Given the description of an element on the screen output the (x, y) to click on. 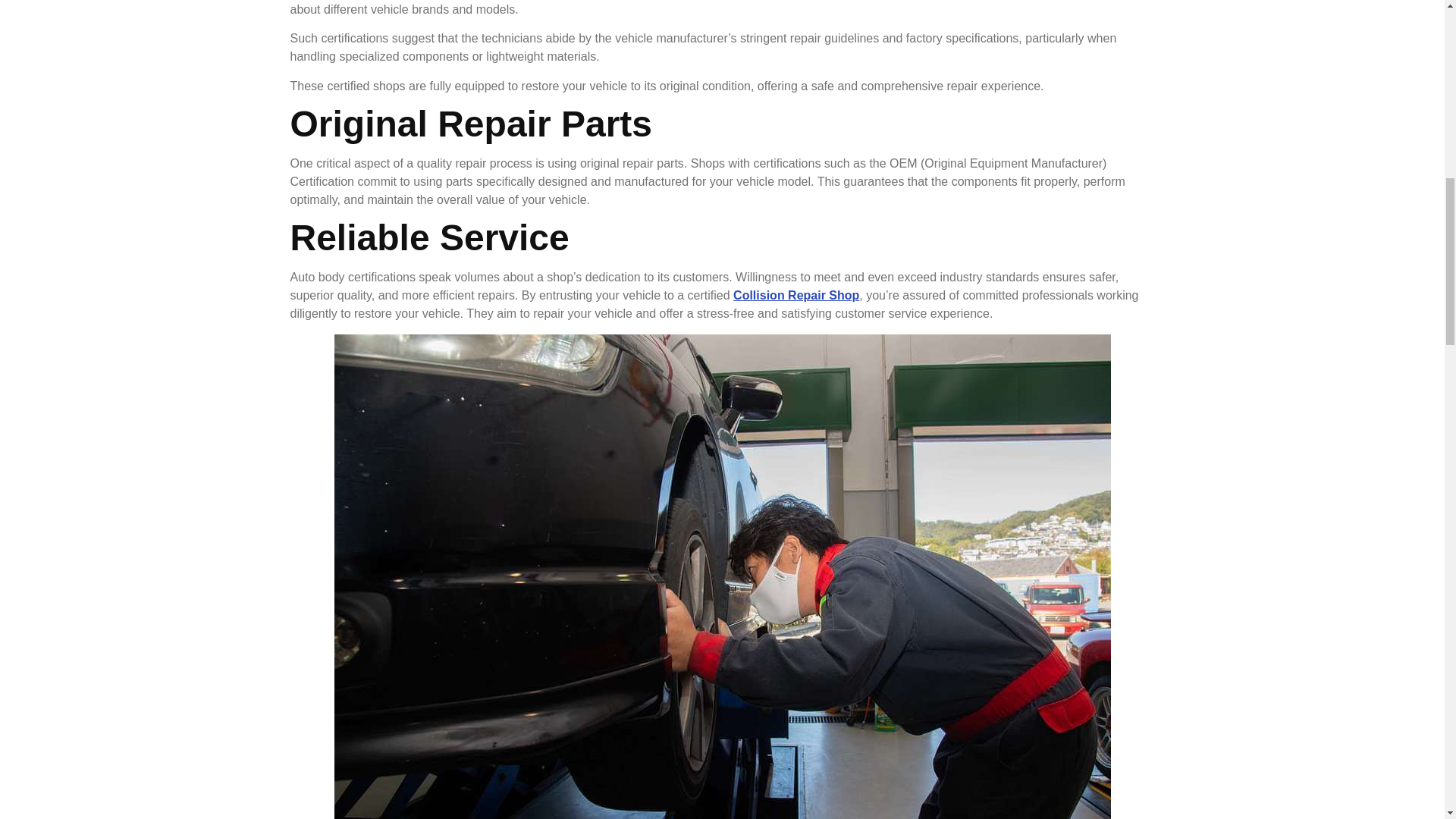
Collision Repair Shop (796, 295)
